Given the description of an element on the screen output the (x, y) to click on. 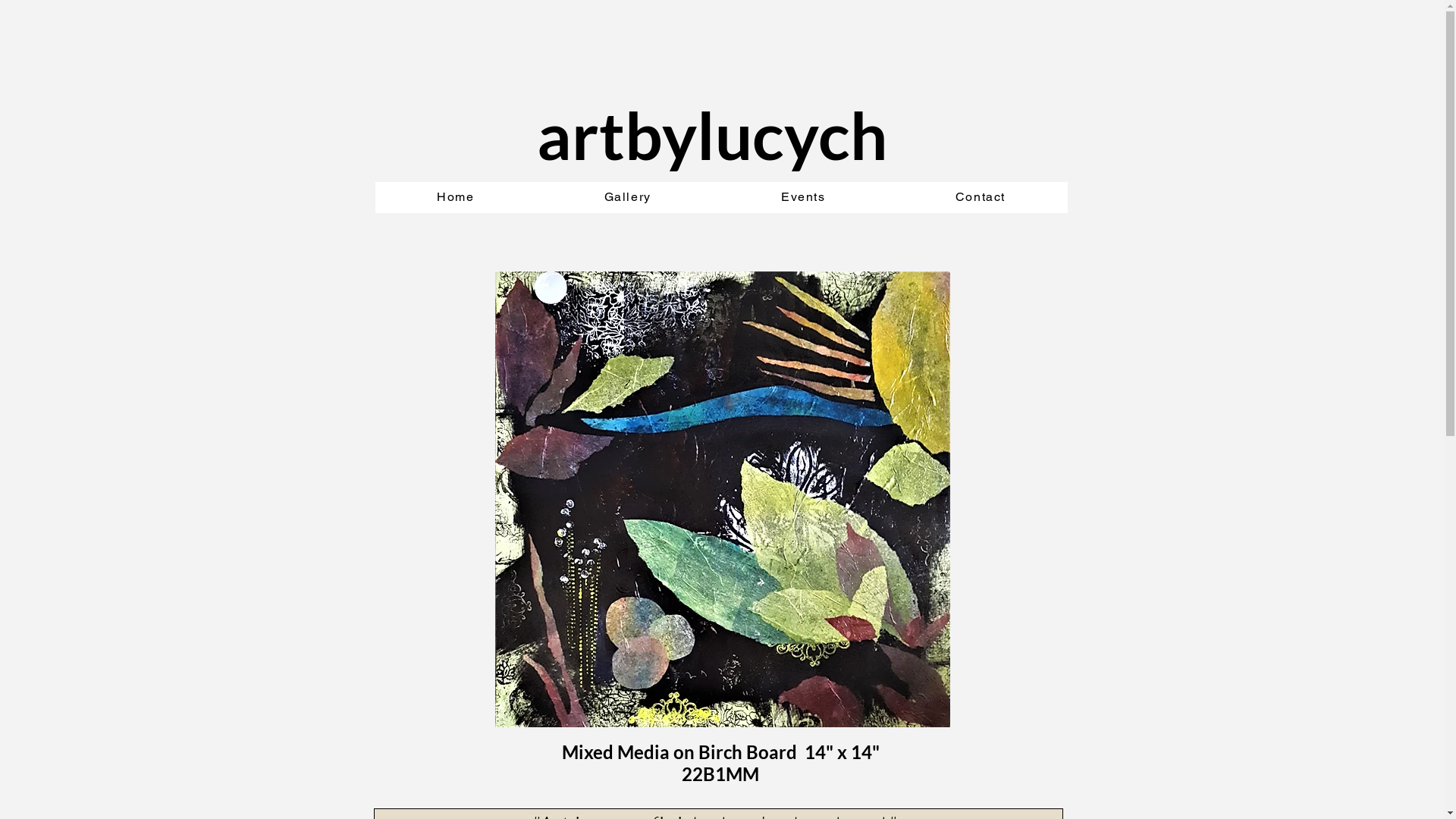
Events Element type: text (802, 197)
Gallery Element type: text (627, 197)
Contact Element type: text (979, 197)
artbylucych Element type: text (711, 134)
Home Element type: text (455, 197)
